Given the description of an element on the screen output the (x, y) to click on. 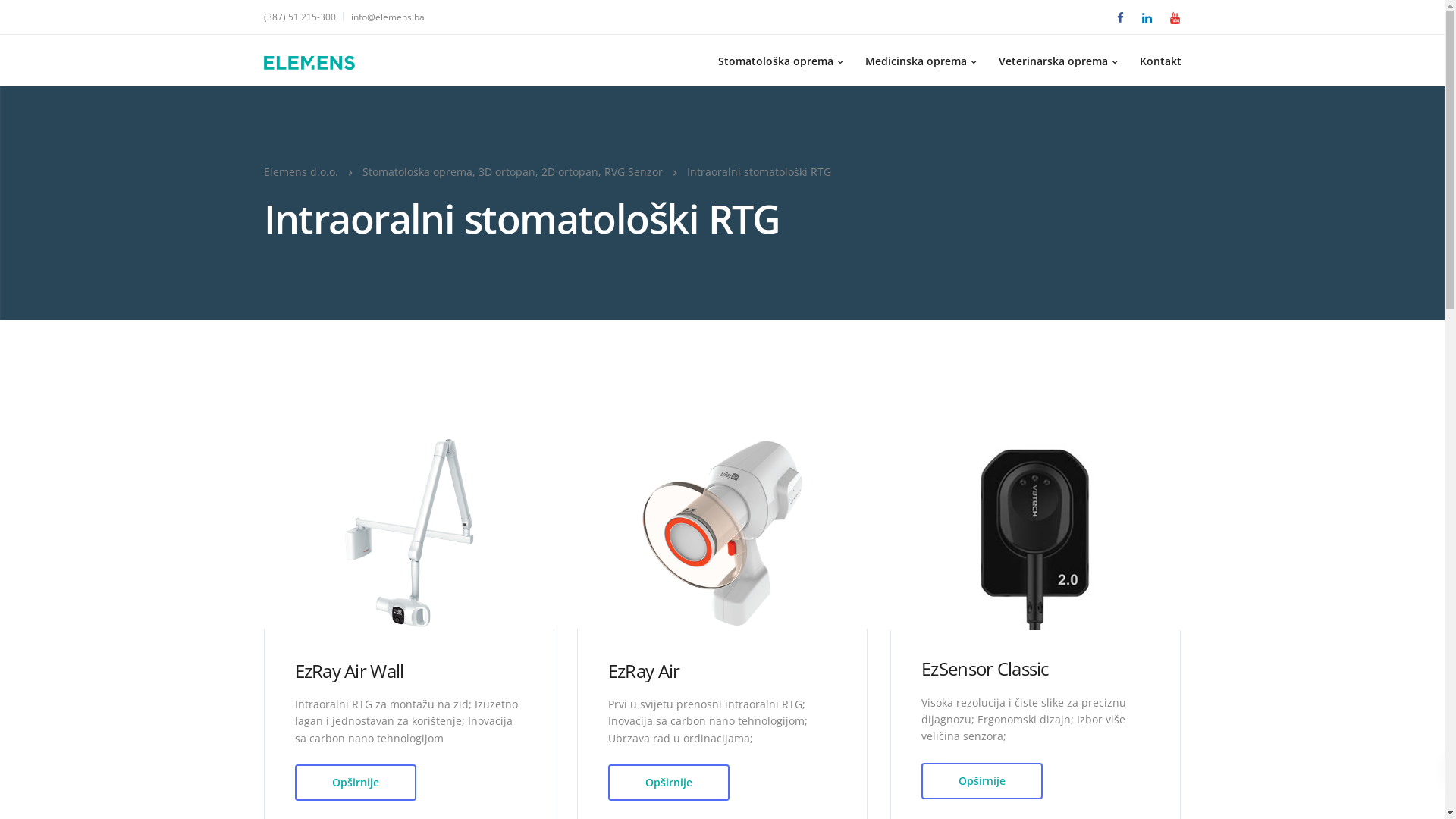
(387) 51 215-300 Element type: text (303, 16)
info@elemens.ba Element type: text (386, 16)
Elemens d.o.o. Element type: text (300, 171)
Veterinarska oprema Element type: text (1057, 60)
Kontakt Element type: text (1160, 60)
Medicinska oprema Element type: text (920, 60)
